Given the description of an element on the screen output the (x, y) to click on. 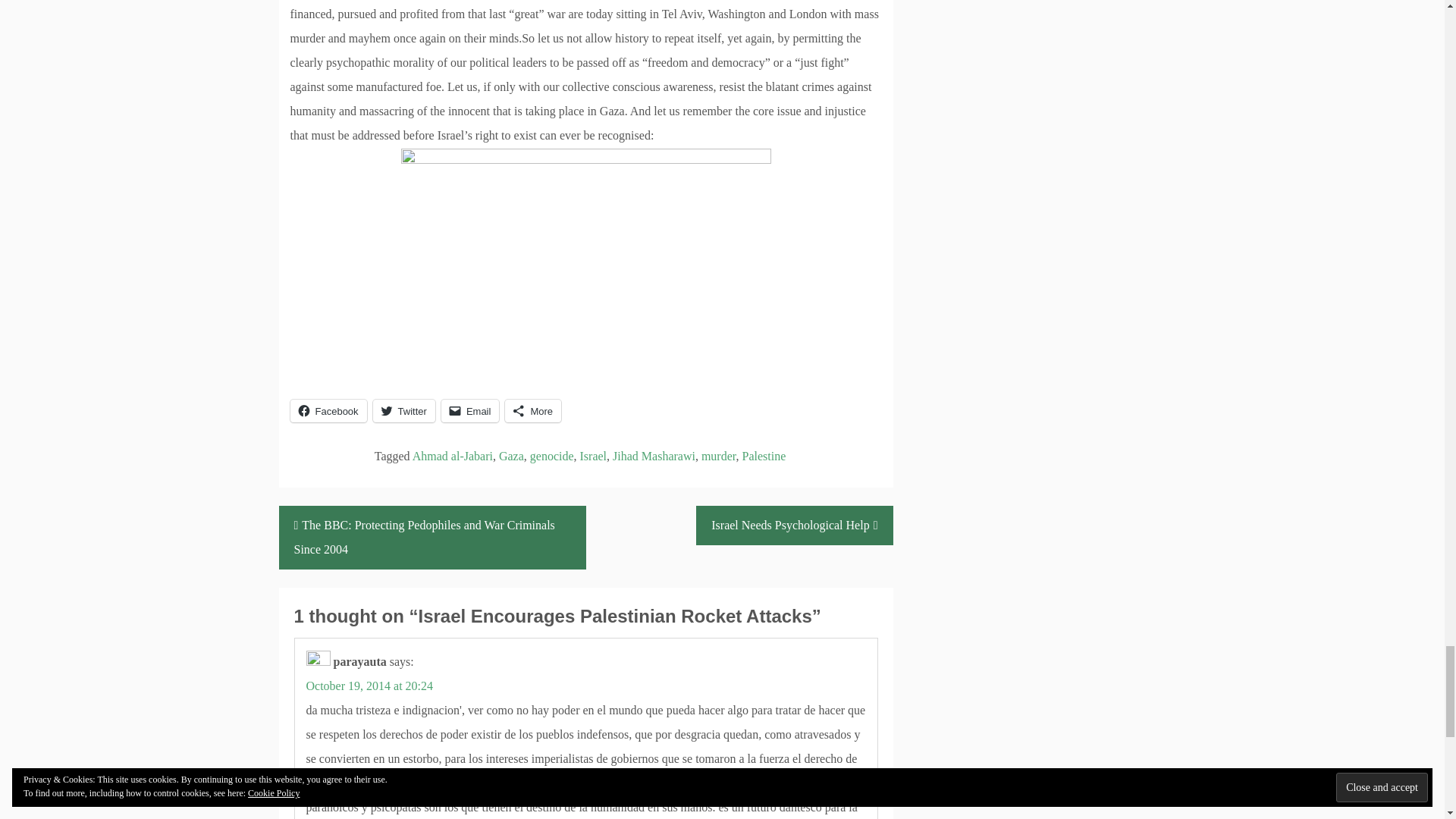
Facebook (327, 410)
Twitter (403, 410)
Click to share on Facebook (327, 410)
Click to share on Twitter (403, 410)
Click to email a link to a friend (470, 410)
